Given the description of an element on the screen output the (x, y) to click on. 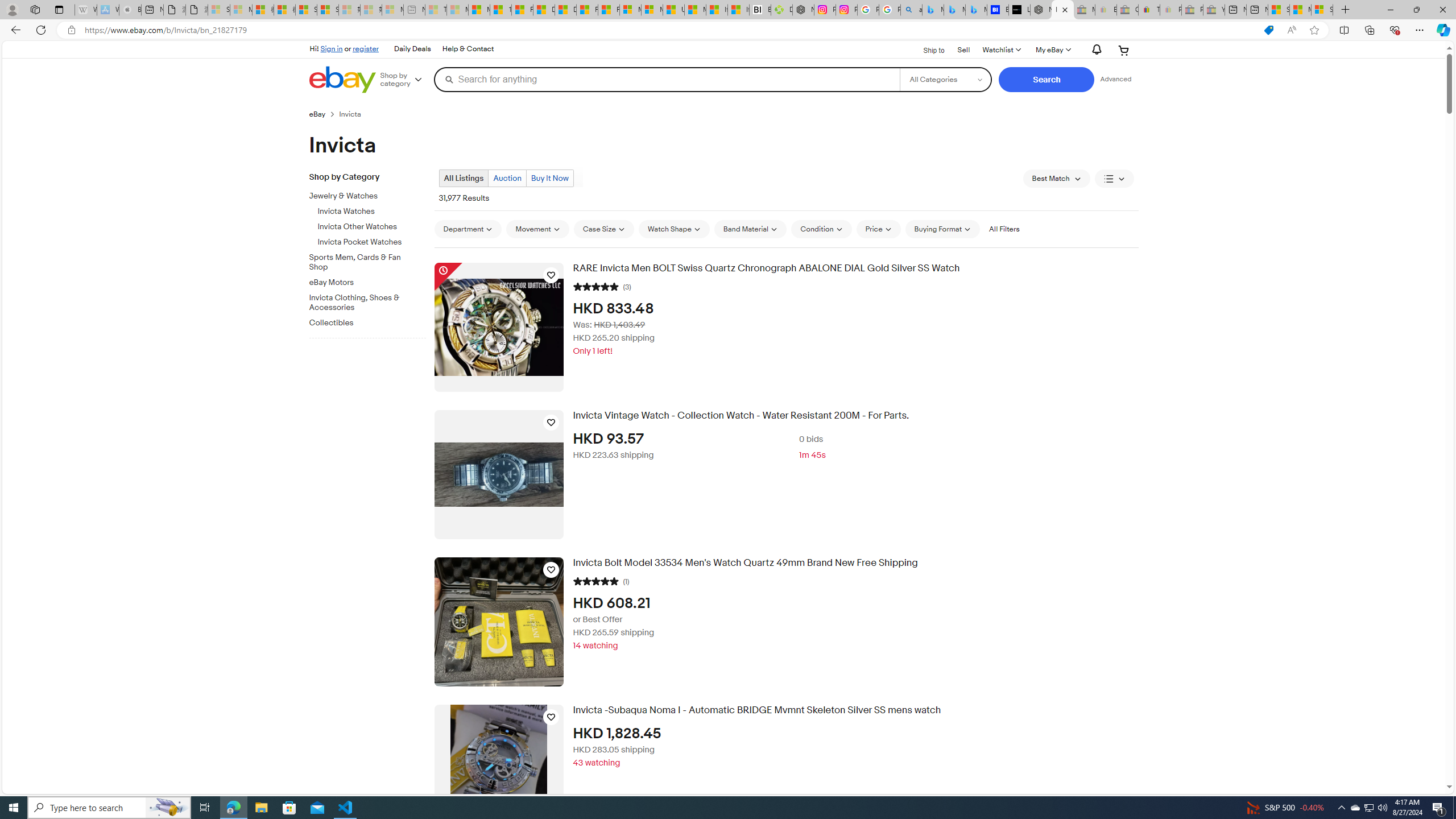
All Filters (1004, 229)
Collectibles (362, 322)
Advanced Search (1115, 78)
Buying Format (941, 229)
AutomationID: gh-eb-Alerts (1094, 49)
Buy It Now (549, 178)
